Given the description of an element on the screen output the (x, y) to click on. 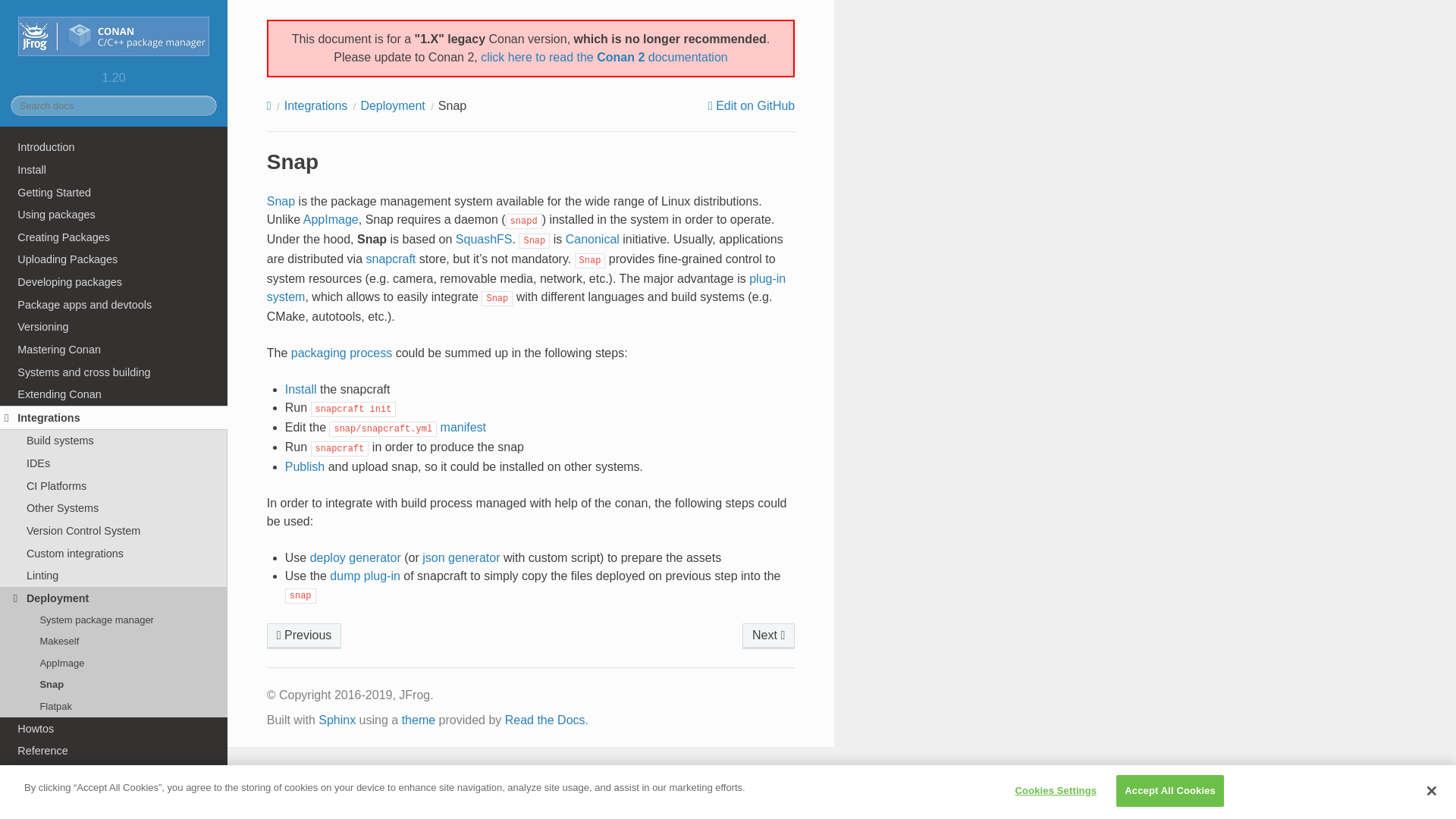
Flatpak (113, 705)
Install (113, 169)
Deployment (113, 598)
Systems and cross building (113, 372)
Integrations (315, 105)
Build systems (113, 440)
Integrations (113, 417)
Flatpak (768, 636)
IDEs (113, 463)
AppImage (304, 636)
